Given the description of an element on the screen output the (x, y) to click on. 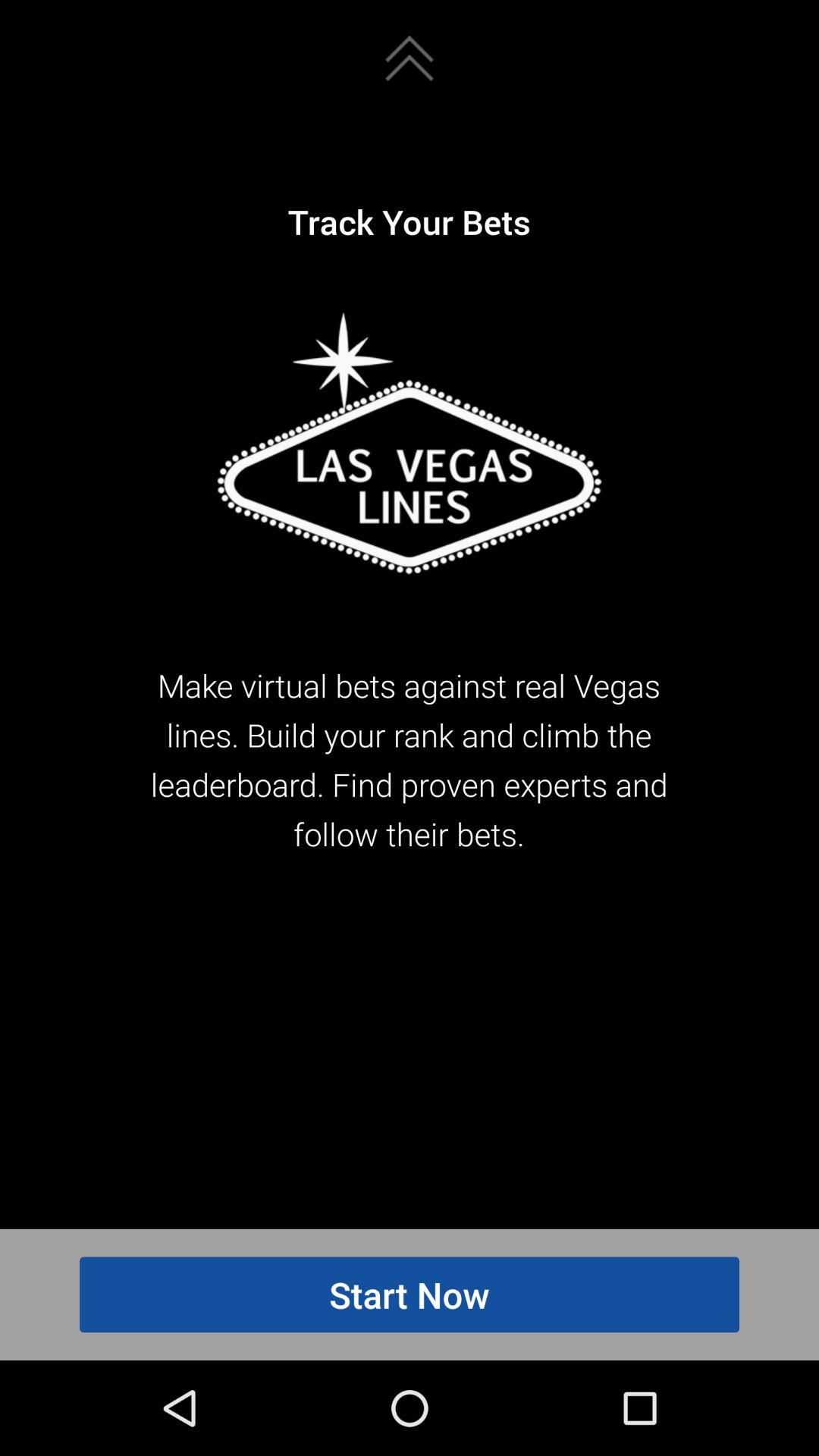
press item below make virtual bets icon (409, 1294)
